Given the description of an element on the screen output the (x, y) to click on. 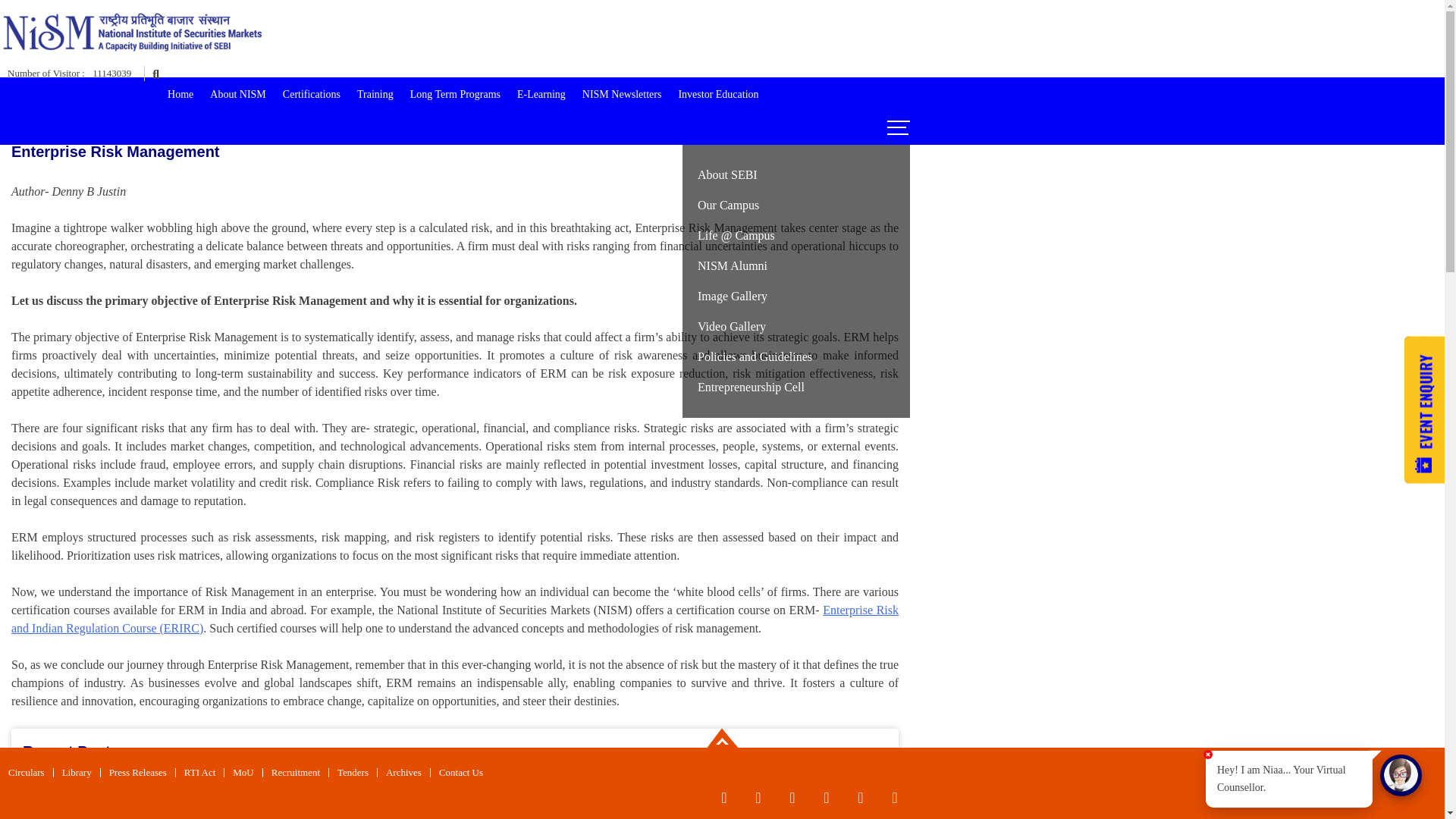
Long Term Programs (454, 93)
Home (180, 93)
Video Gallery (796, 327)
Entrepreneurship Cell (796, 387)
Understanding DRHP, RHP, and Prospectus (454, 789)
Training (375, 93)
E-Learning (540, 93)
About SEBI (796, 174)
About NISM (238, 93)
Image Gallery (796, 296)
NISM Alumni (796, 265)
Investor Education (718, 93)
Our Campus (796, 205)
Certifications (312, 93)
Niaa (1401, 775)
